Given the description of an element on the screen output the (x, y) to click on. 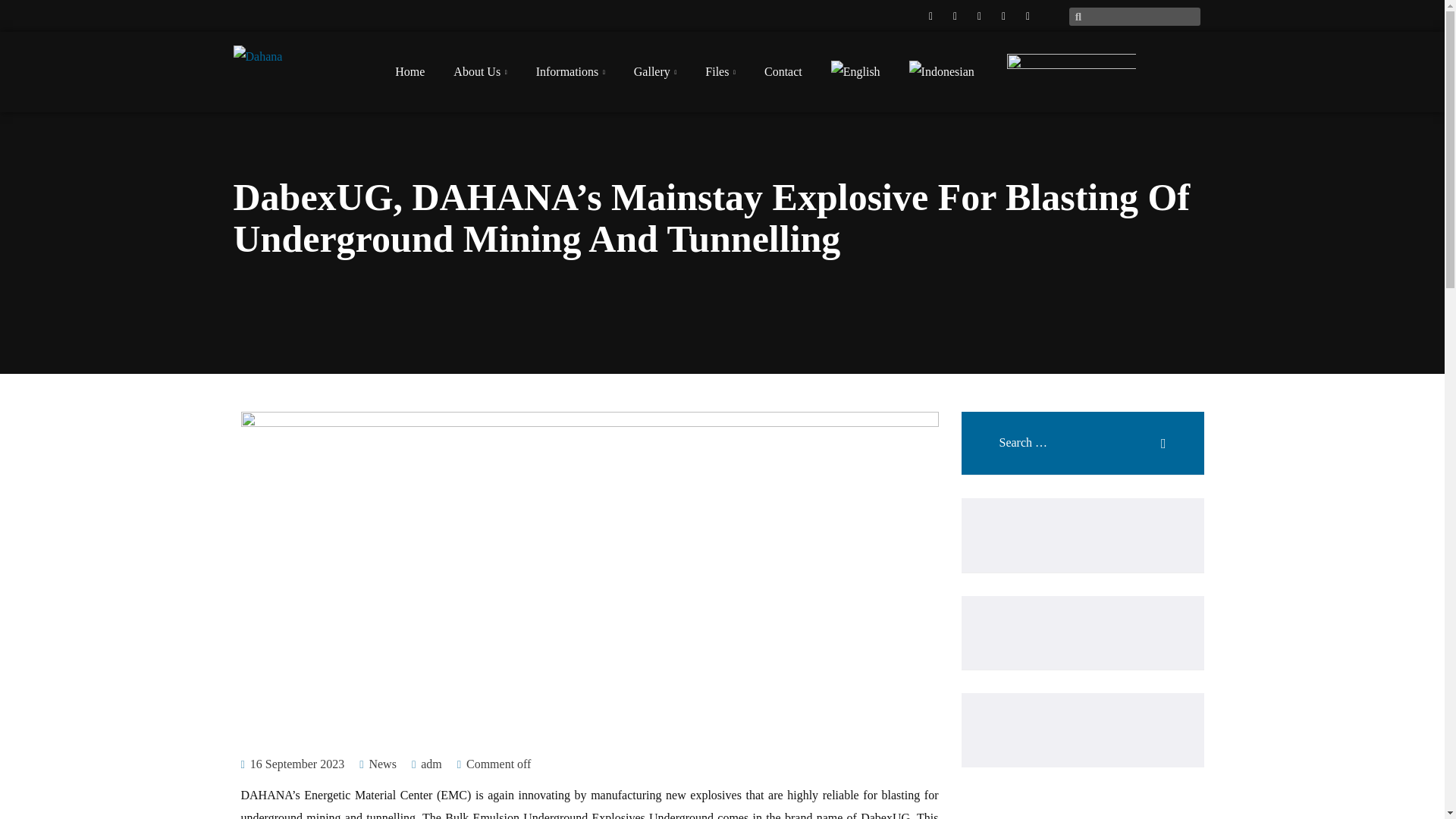
Search (1147, 435)
About Us (479, 71)
Home (409, 71)
Search (1147, 435)
